Given the description of an element on the screen output the (x, y) to click on. 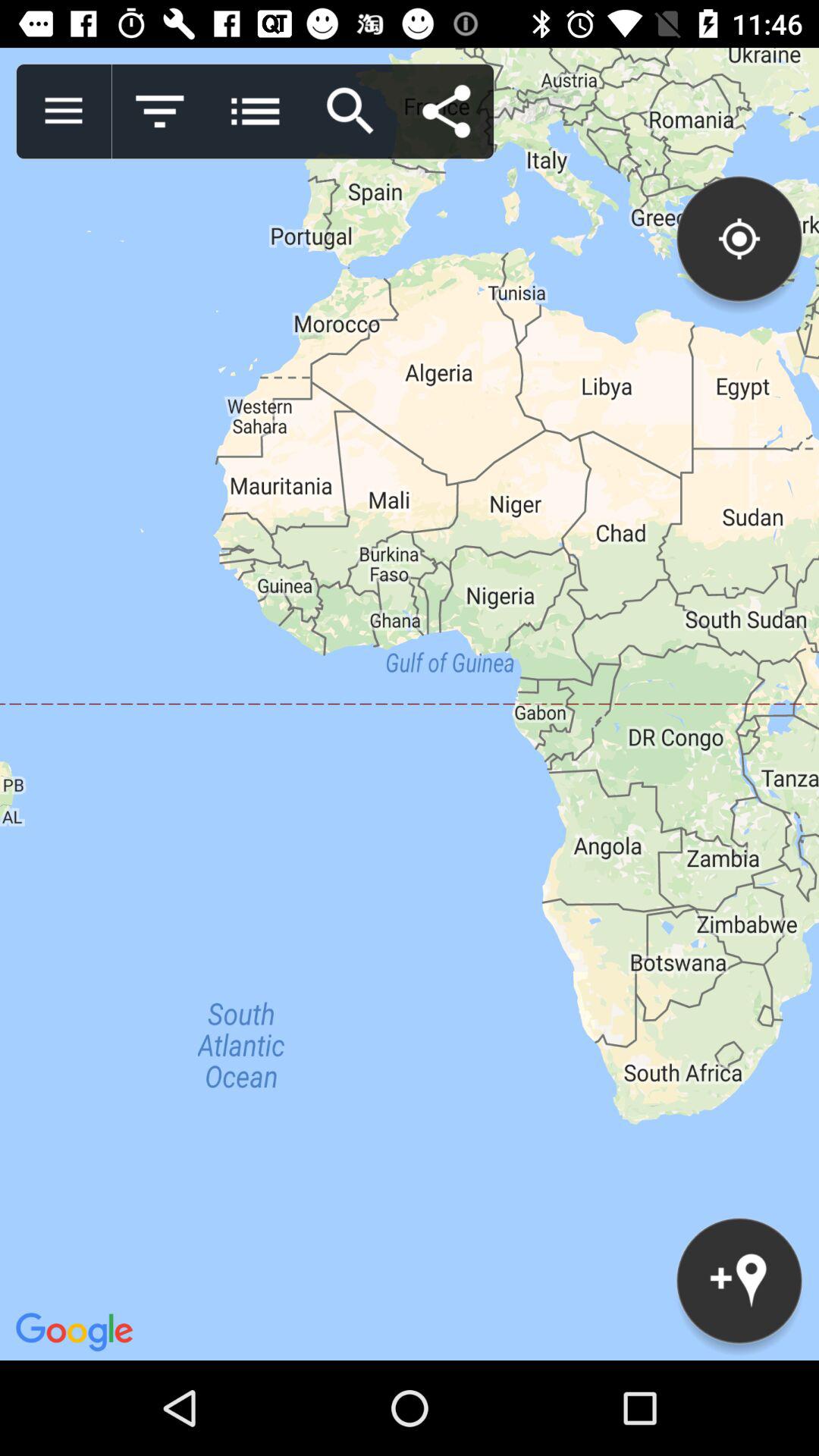
shares map (446, 111)
